Given the description of an element on the screen output the (x, y) to click on. 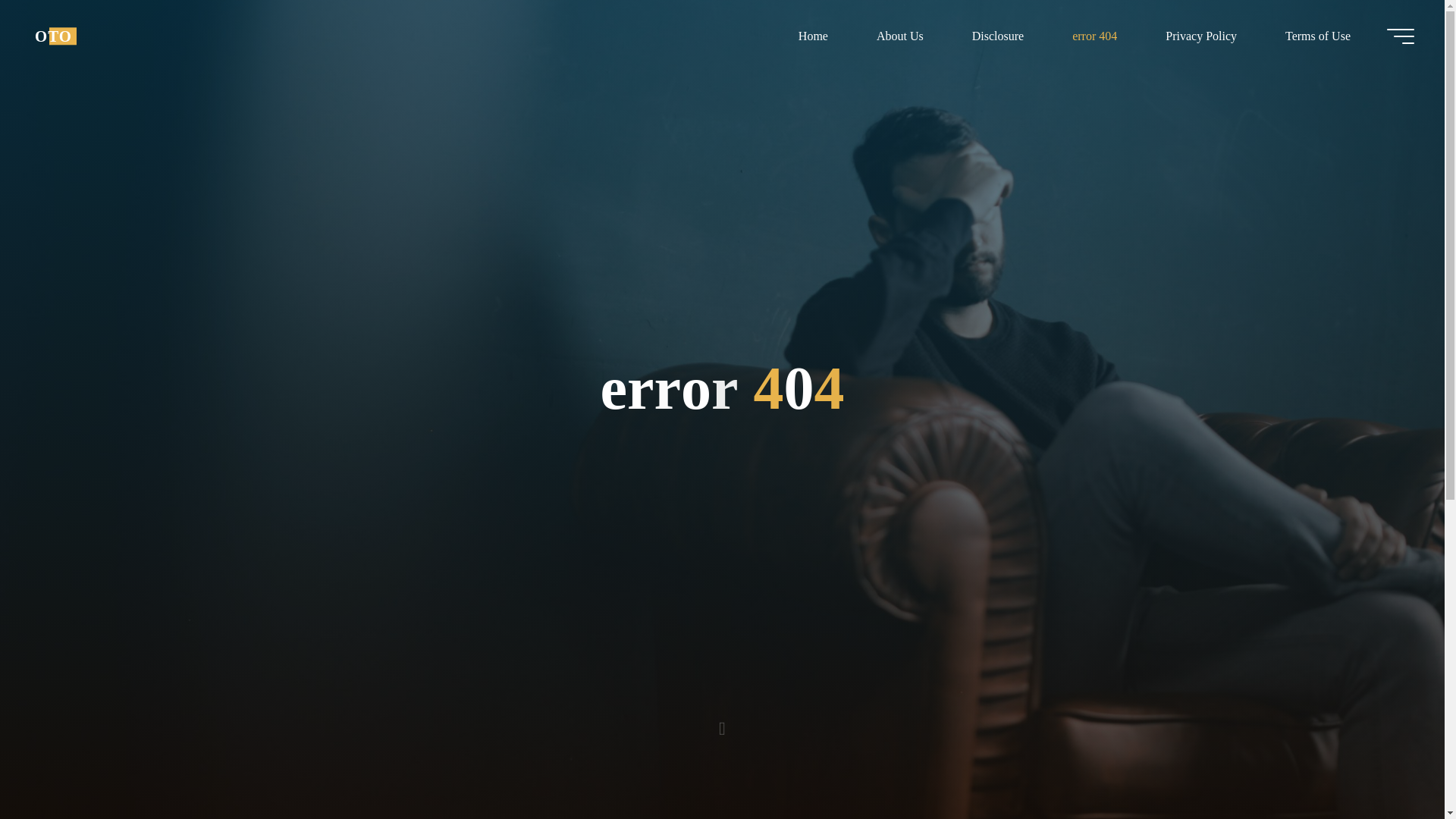
Privacy Policy (1200, 35)
OTO (53, 36)
Home (812, 35)
Read more (721, 724)
Terms of Use (1317, 35)
error 404 (1094, 35)
About Us (899, 35)
Disclosure (997, 35)
